Given the description of an element on the screen output the (x, y) to click on. 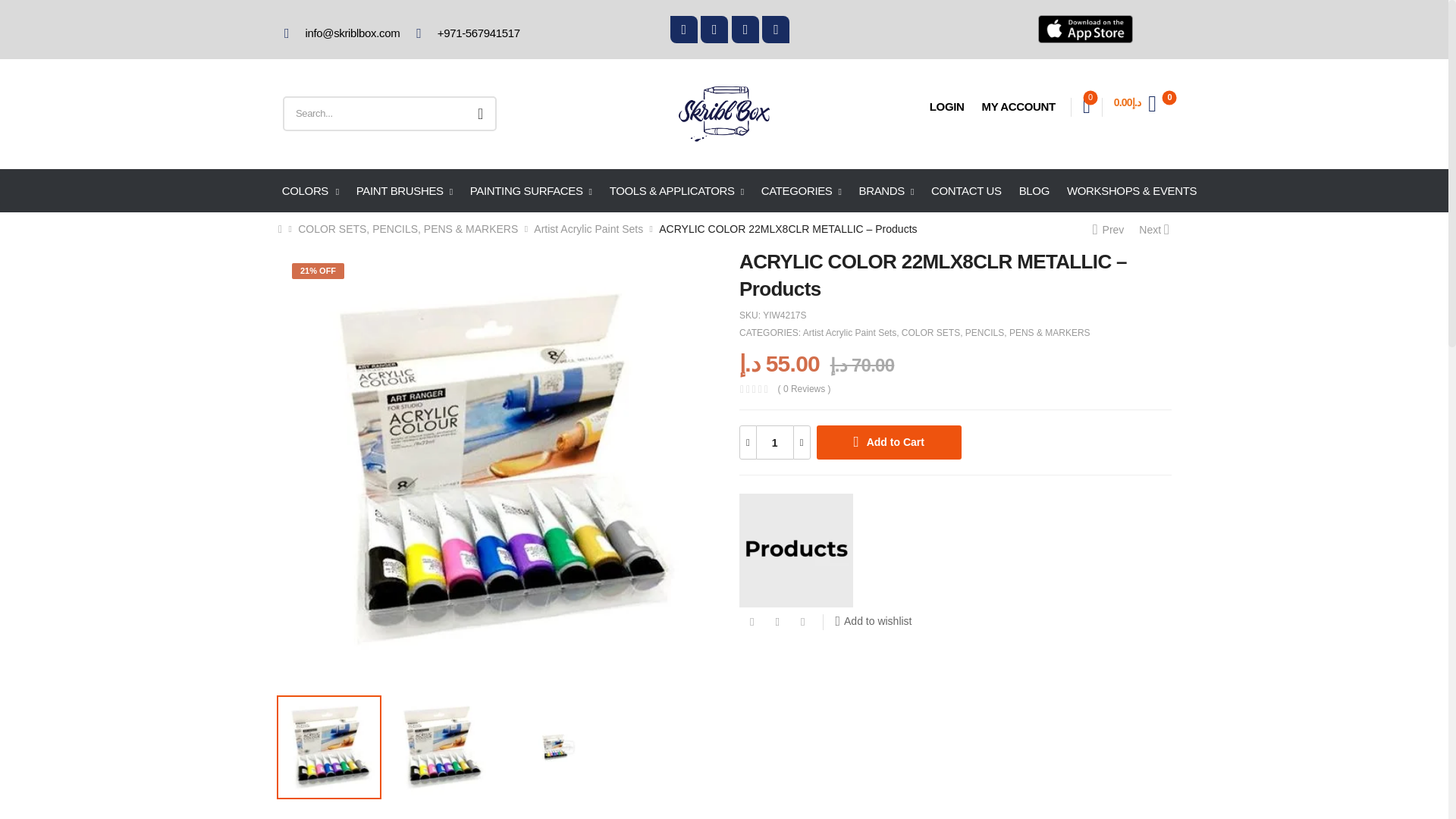
PAINTING SURFACES (531, 190)
PAINT BRUSHES (404, 190)
On-Sale Product (317, 270)
Twitter (776, 622)
1 (775, 442)
0 (1086, 106)
MY ACCOUNT (1018, 106)
Facebook (751, 622)
Pinterest (802, 622)
LOGIN (946, 106)
Products (796, 550)
COLORS (310, 190)
